Given the description of an element on the screen output the (x, y) to click on. 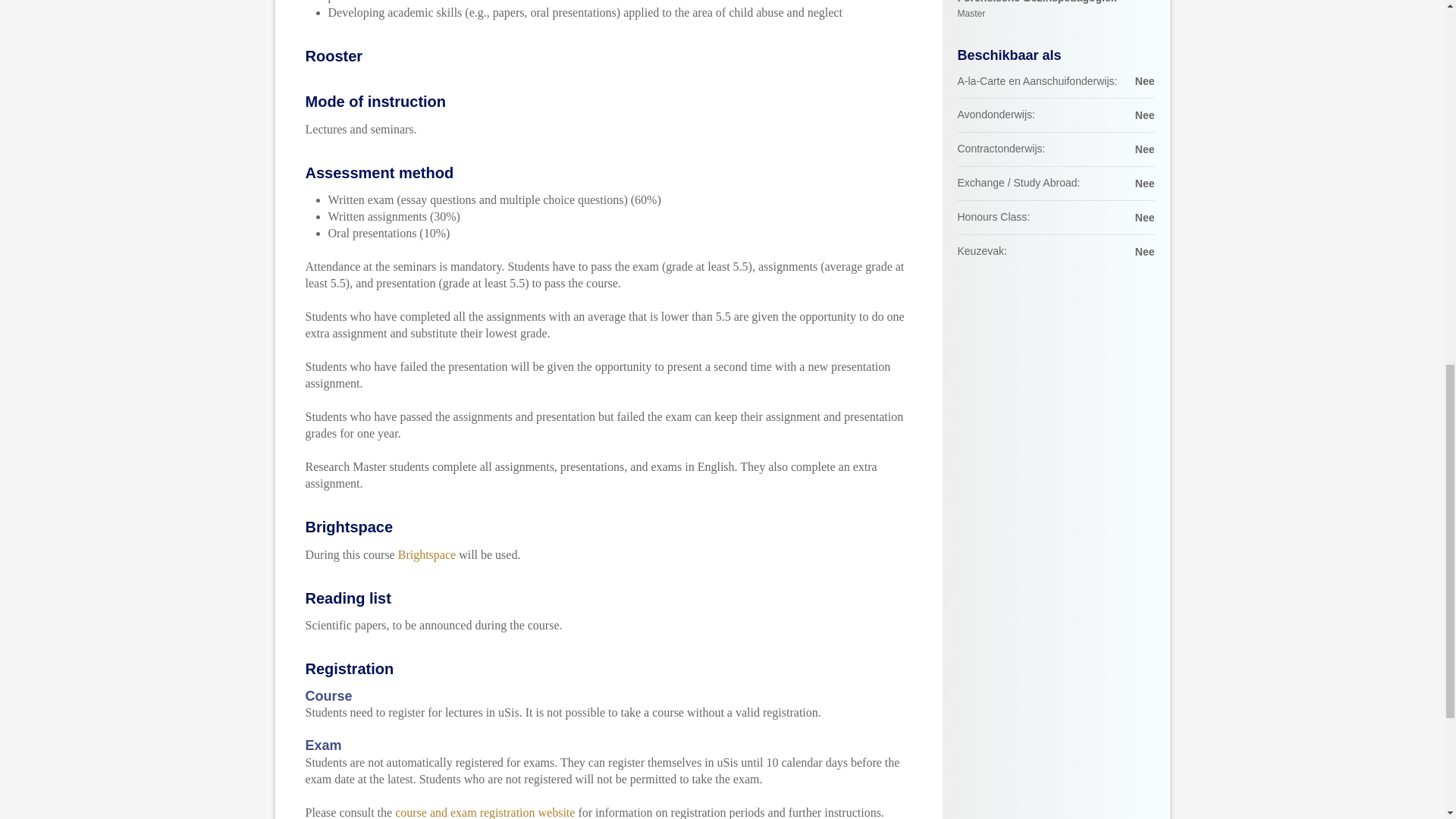
Brightspace (426, 553)
course and exam registration website (484, 812)
